Given the description of an element on the screen output the (x, y) to click on. 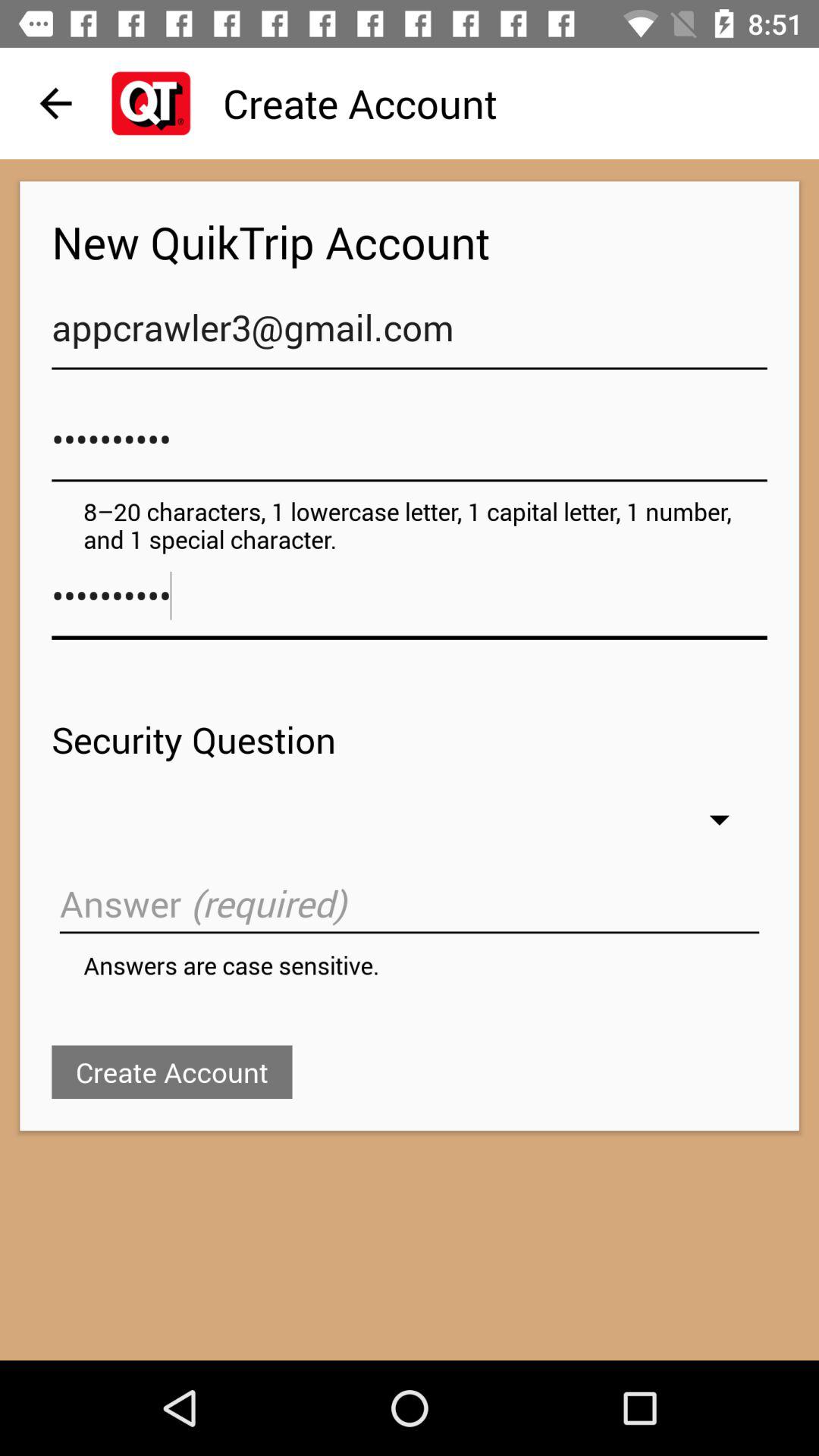
tap the icon above the new quiktrip account icon (55, 103)
